Given the description of an element on the screen output the (x, y) to click on. 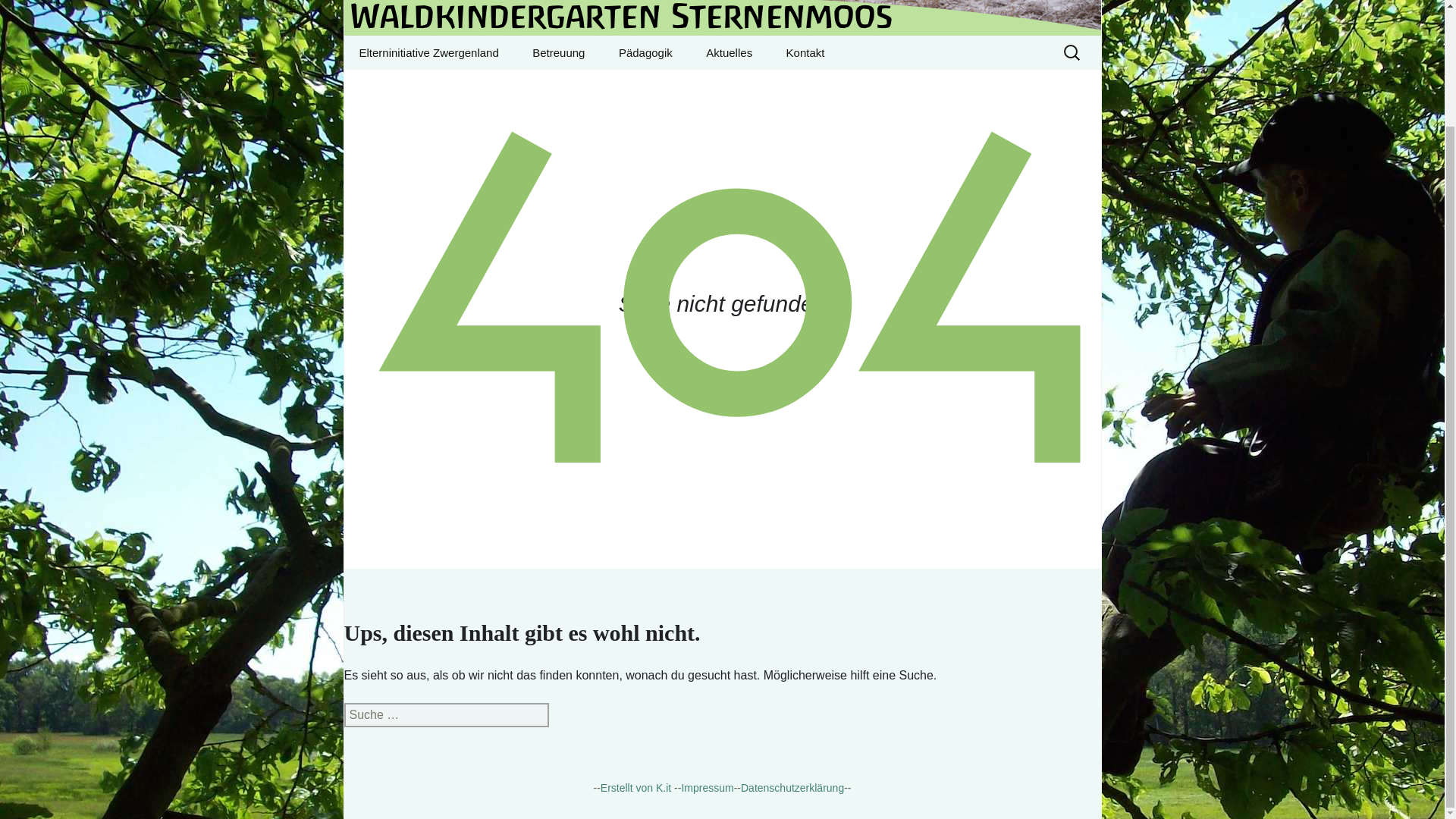
Grundlagen (679, 86)
Erstellt von K.it (635, 787)
Impressum (707, 787)
Elterninitiative Zwergenland (721, 18)
Kontakt (428, 52)
Betreuung (805, 52)
Das Team (557, 52)
Pressemitteilungen (592, 86)
Der Verein (766, 86)
